Given the description of an element on the screen output the (x, y) to click on. 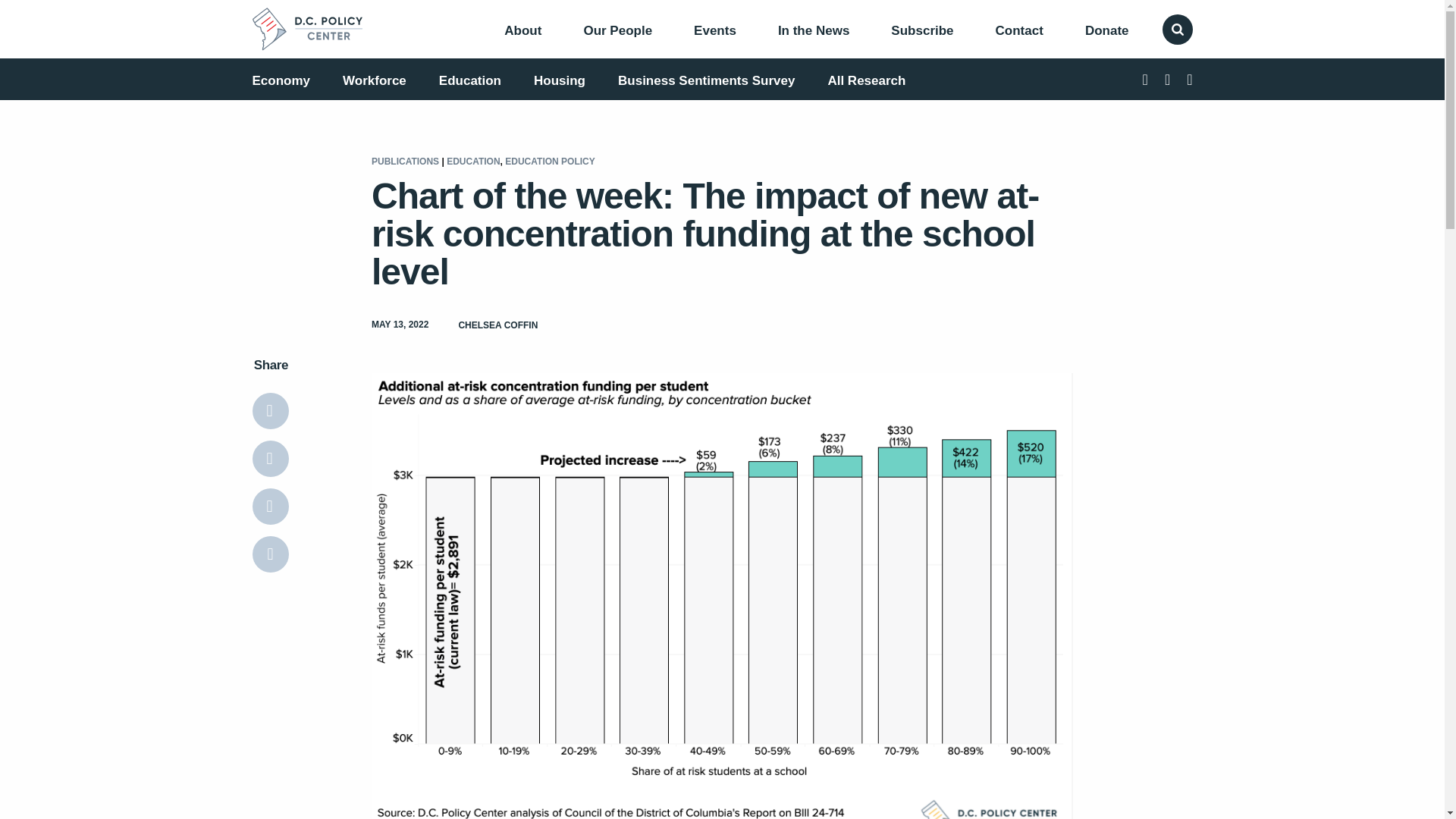
Share by Email (269, 506)
Contact (1019, 30)
In the News (812, 30)
Subscribe (922, 30)
Donate (1106, 30)
Housing (559, 80)
Events (715, 30)
Education (469, 80)
Workforce (374, 80)
Economy (280, 80)
Our People (617, 30)
Business Sentiments Survey (705, 80)
About (522, 30)
All Research (866, 80)
